Given the description of an element on the screen output the (x, y) to click on. 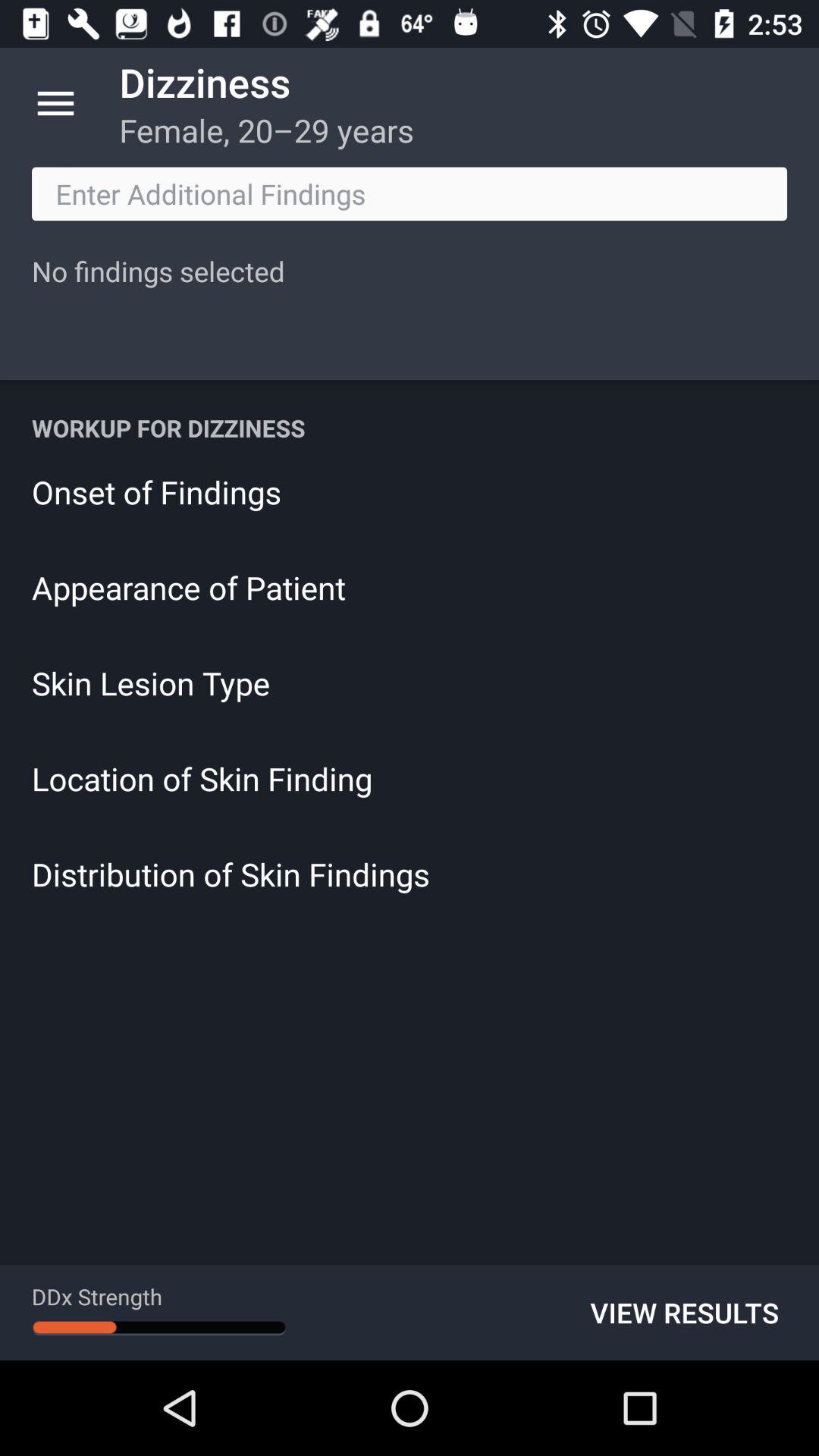
jump until workup for dizziness (409, 427)
